Given the description of an element on the screen output the (x, y) to click on. 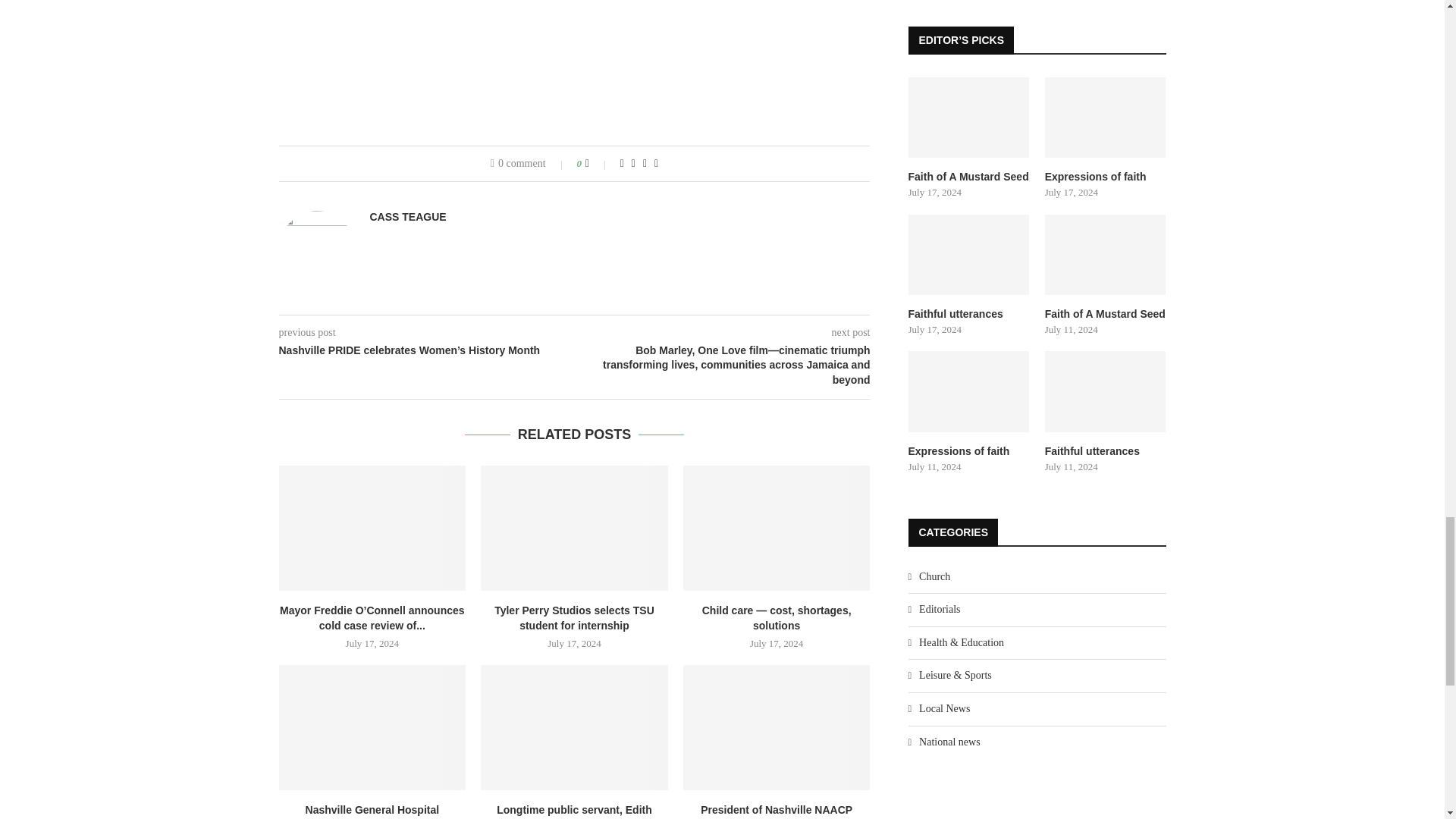
Tyler Perry Studios selects TSU student for internship (574, 527)
Like (597, 163)
Author Cass Teague (407, 216)
Longtime public servant, Edith Taylor Langster, passes (574, 727)
